Given the description of an element on the screen output the (x, y) to click on. 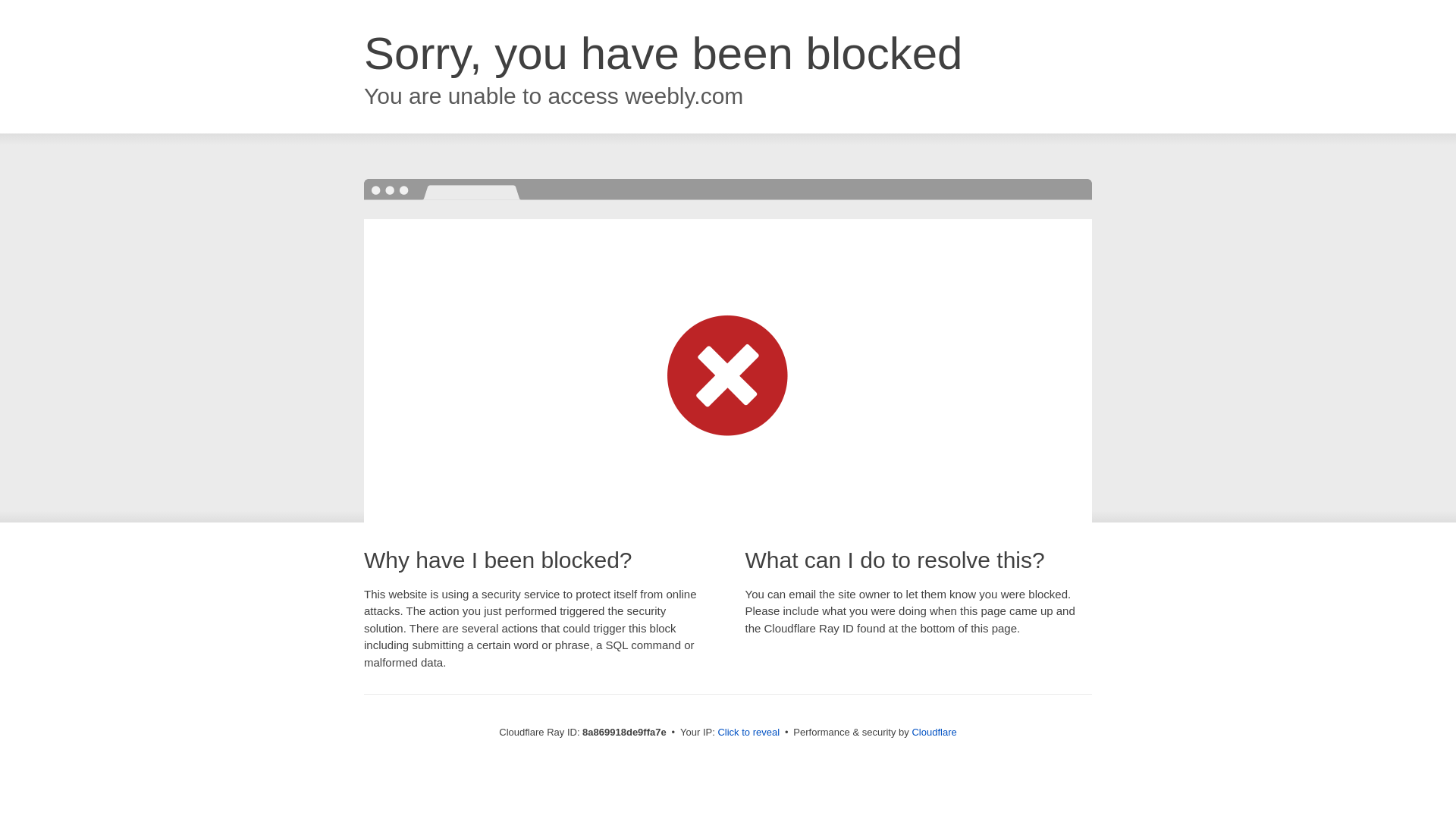
Cloudflare (933, 731)
Click to reveal (747, 732)
